Given the description of an element on the screen output the (x, y) to click on. 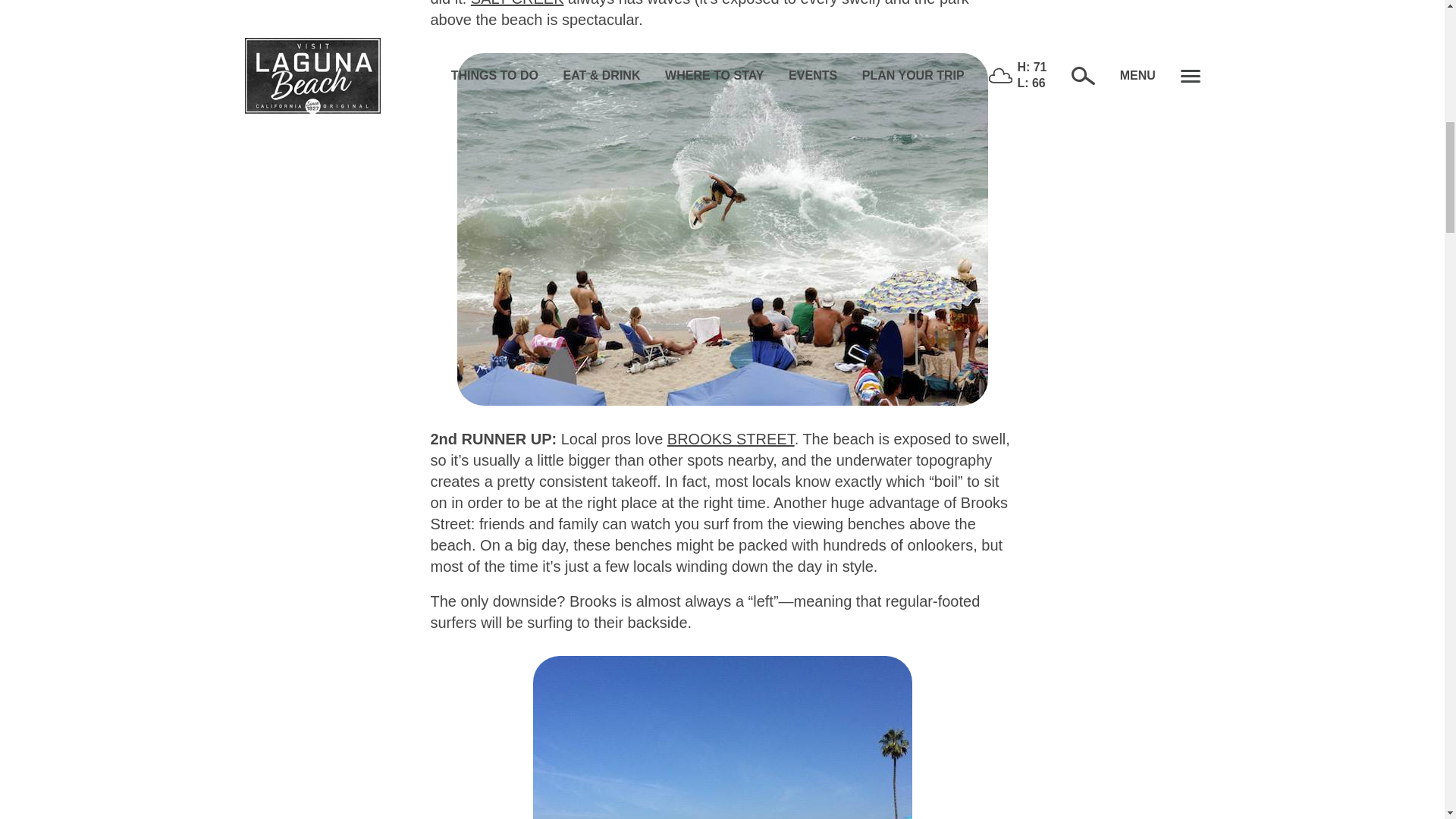
The Best Beach for Surfing (721, 737)
